Given the description of an element on the screen output the (x, y) to click on. 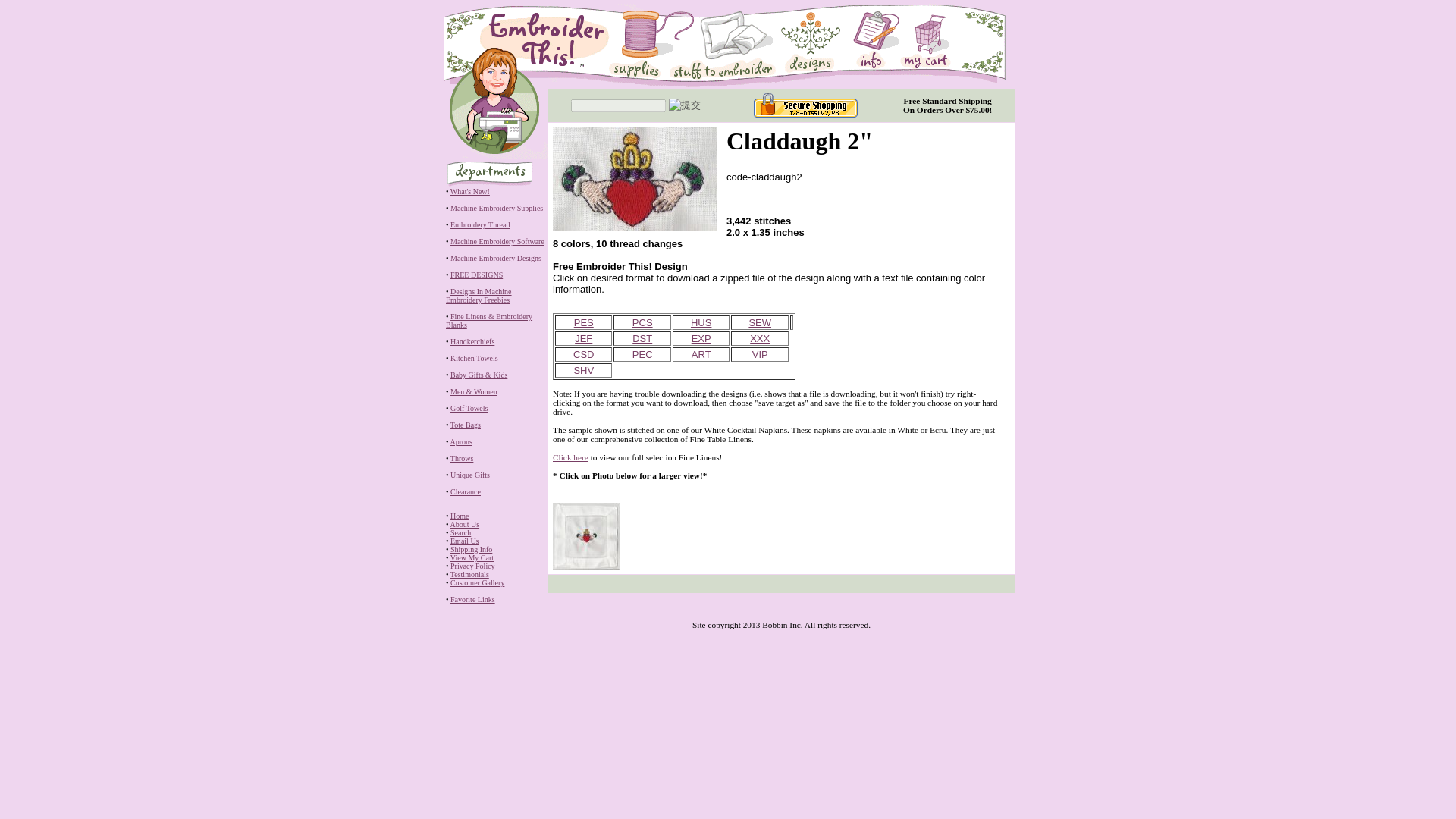
Privacy Policy (472, 565)
What's New! (469, 191)
Tote Bags (464, 424)
Testimonials (469, 574)
Embroidery Thread (479, 224)
Kitchen Towels (473, 357)
Machine Embroidery Supplies (496, 207)
Machine Embroidery Designs (495, 257)
PCS (641, 322)
Favorite Links (472, 599)
Handkerchiefs (472, 341)
Customer Gallery (476, 582)
About Us (464, 524)
Golf Towels (468, 408)
Search (459, 532)
